Given the description of an element on the screen output the (x, y) to click on. 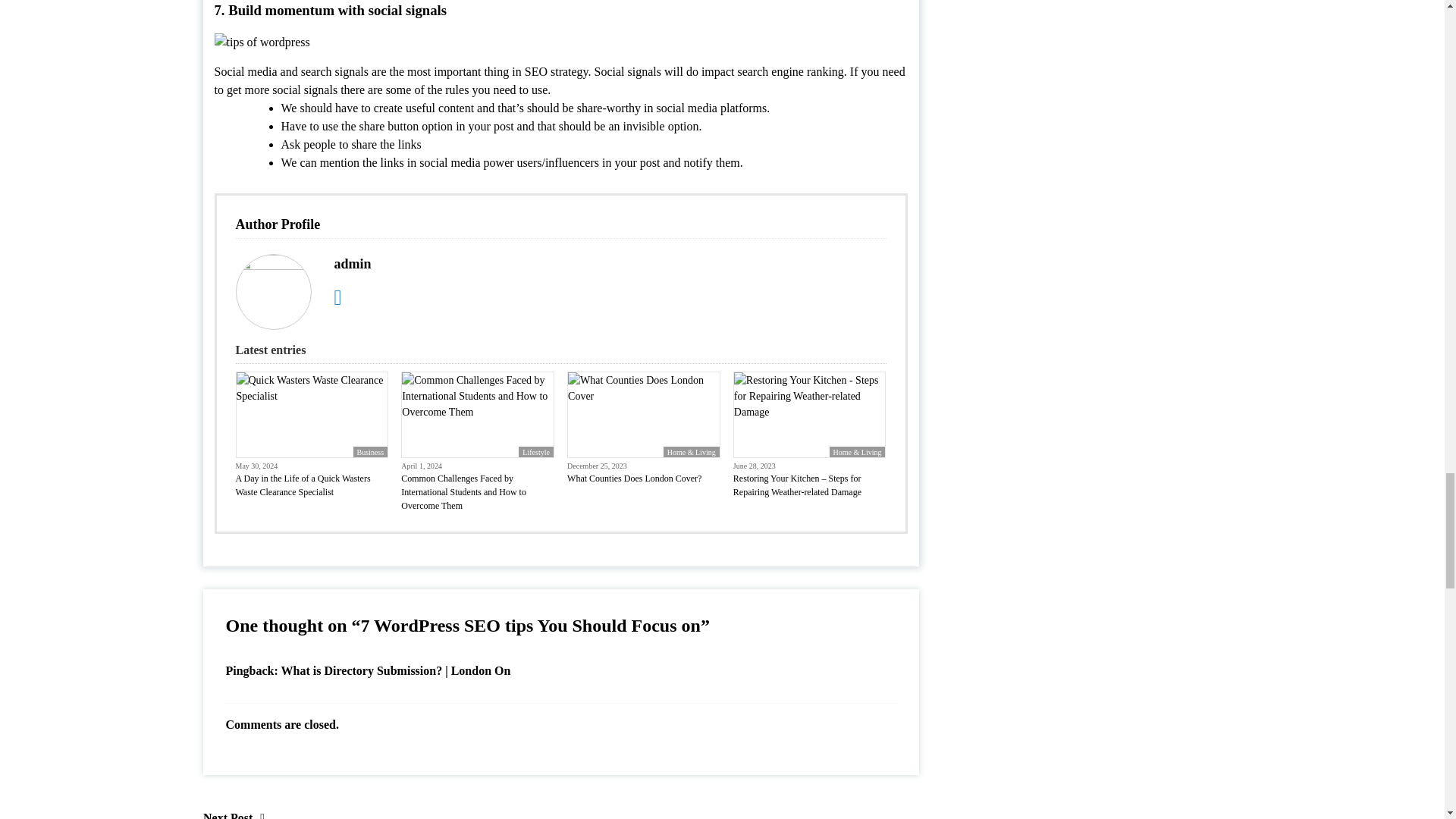
Business (370, 451)
Lifestyle (535, 451)
share button option (405, 125)
